Given the description of an element on the screen output the (x, y) to click on. 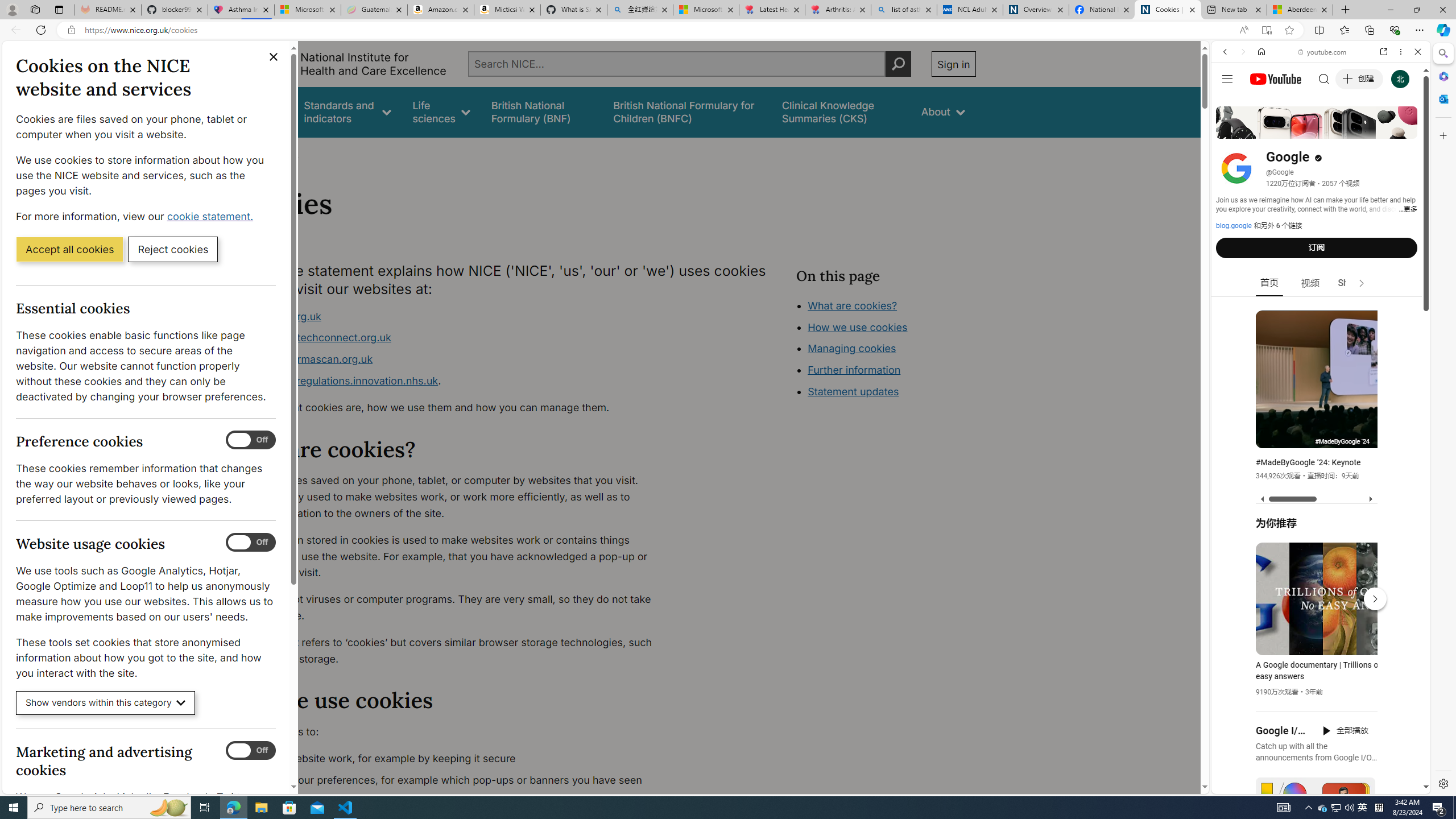
www.ukpharmascan.org.uk (305, 359)
Show More Music (1390, 310)
Search Filter, IMAGES (1262, 129)
What are cookies? (852, 305)
Class: style-scope tp-yt-iron-icon (1361, 283)
